Given the description of an element on the screen output the (x, y) to click on. 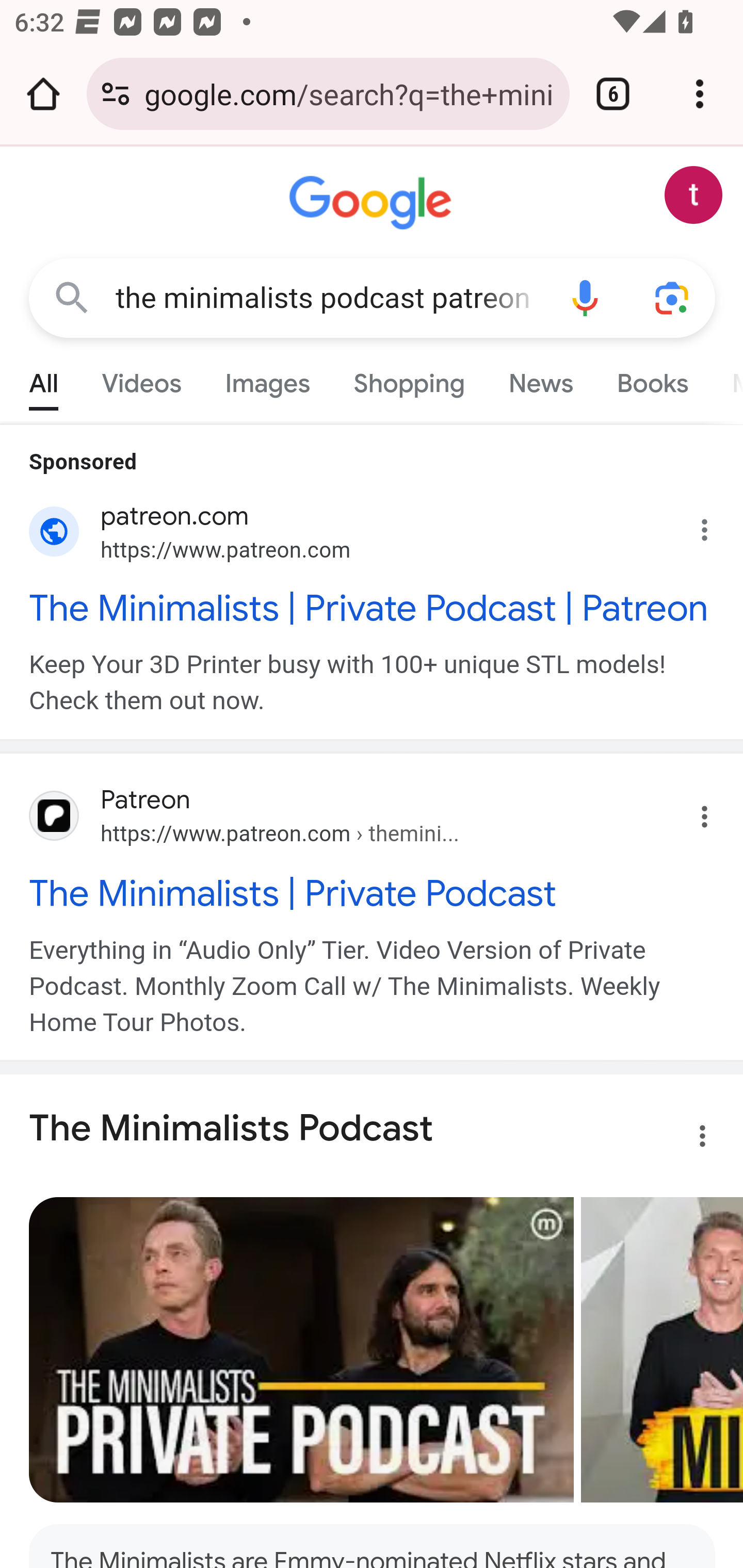
Open the home page (43, 93)
Connection is secure (115, 93)
Switch or close tabs (612, 93)
Customize and control Google Chrome (699, 93)
Google (372, 203)
Google Search (71, 296)
Search using your camera or photos (672, 296)
the minimalists podcast patreon (328, 297)
Videos (141, 378)
Images (267, 378)
Shopping (408, 378)
News (540, 378)
Books (652, 378)
Why this ad? (714, 525)
The Minimalists | Private Podcast | Patreon (372, 608)
The Minimalists | Private Podcast (372, 893)
More options (690, 1139)
Ep. 397 | Renewed Minimalism - YouTube (661, 1349)
